Given the description of an element on the screen output the (x, y) to click on. 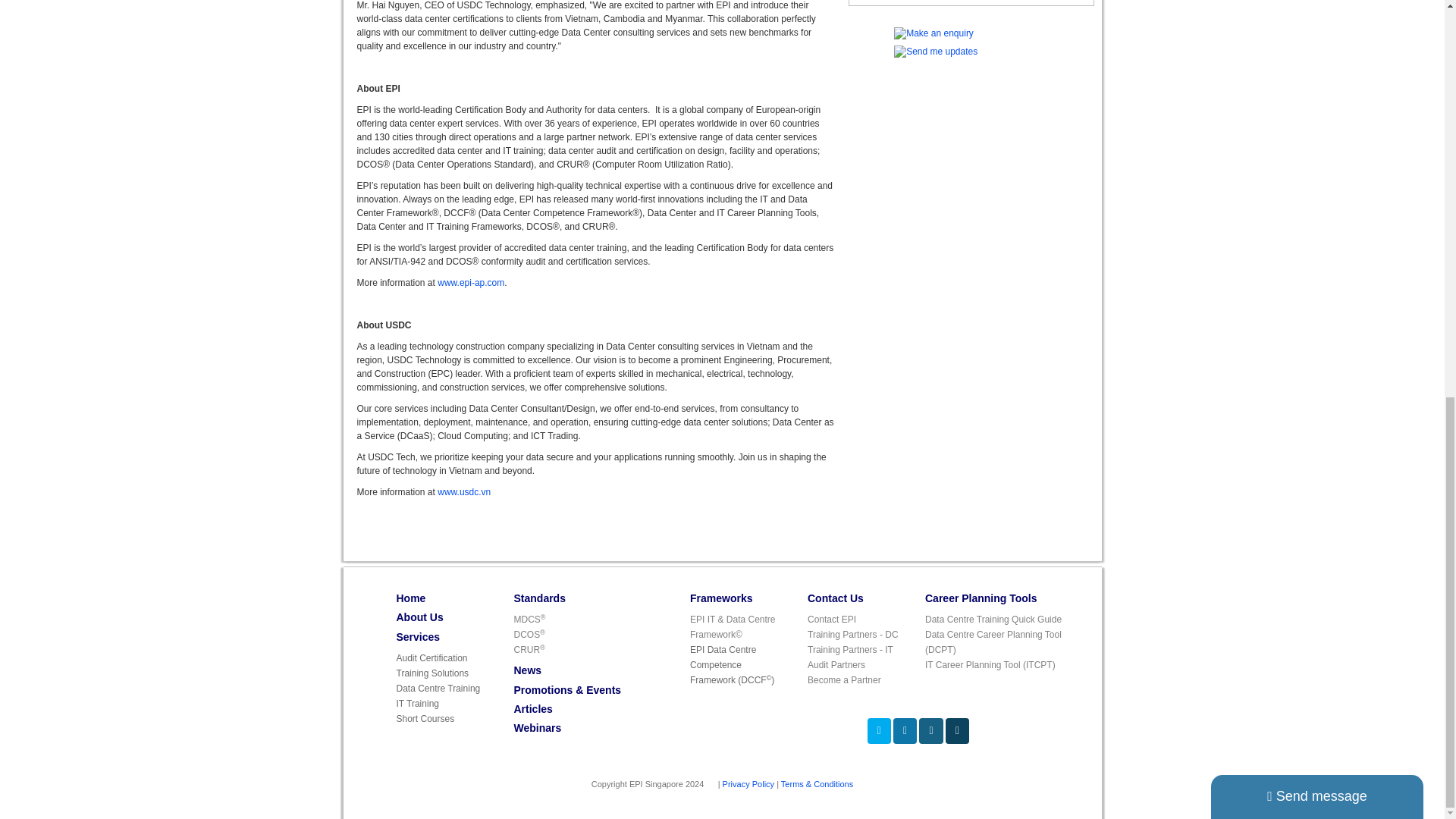
Make an enquiry (933, 32)
Email us (930, 730)
Subscribe for updates (956, 730)
Send me updates (934, 50)
Follow us on Linkedin (905, 730)
Follow us on Twitter (879, 730)
